Given the description of an element on the screen output the (x, y) to click on. 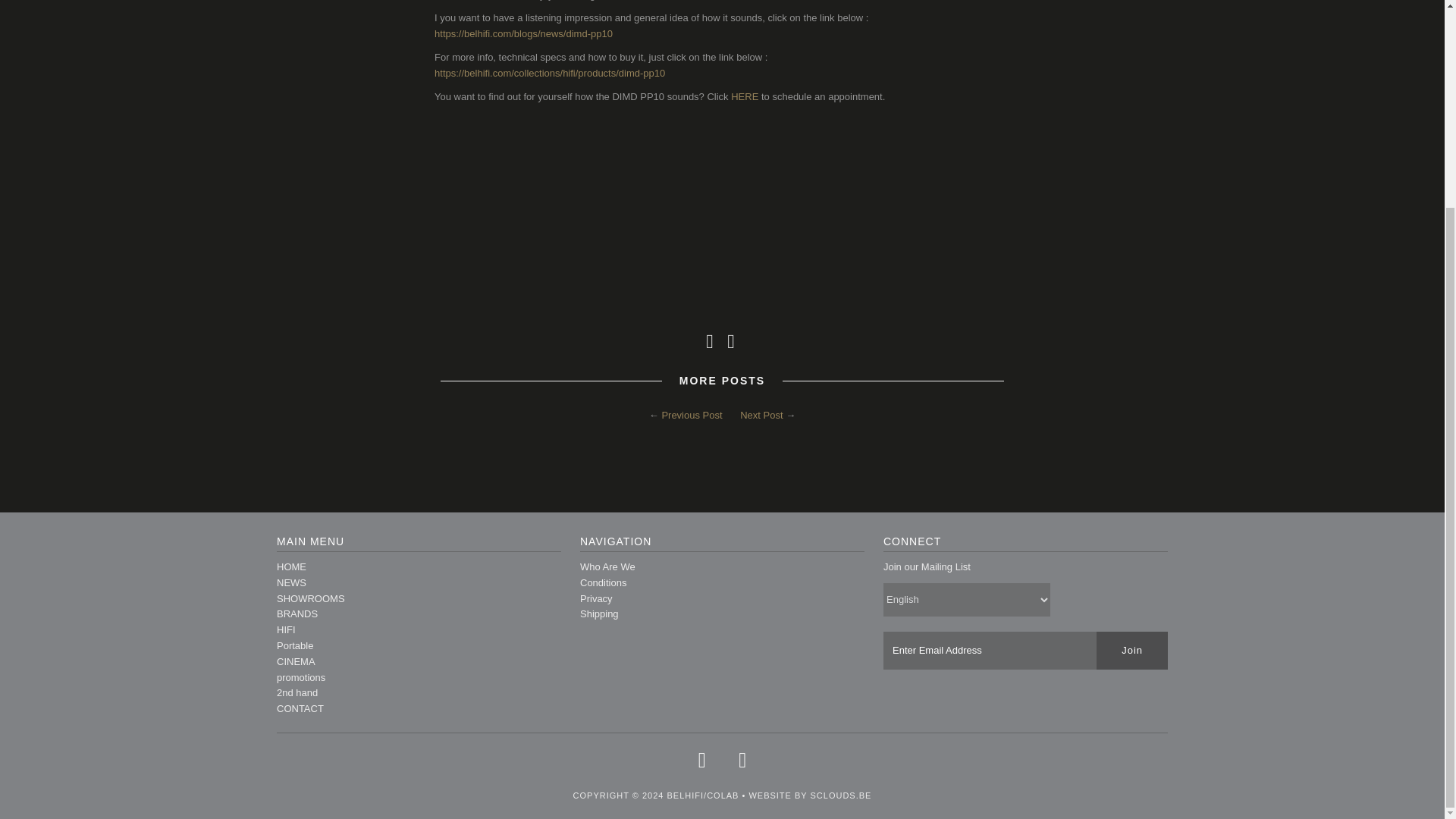
Join (1131, 650)
